Given the description of an element on the screen output the (x, y) to click on. 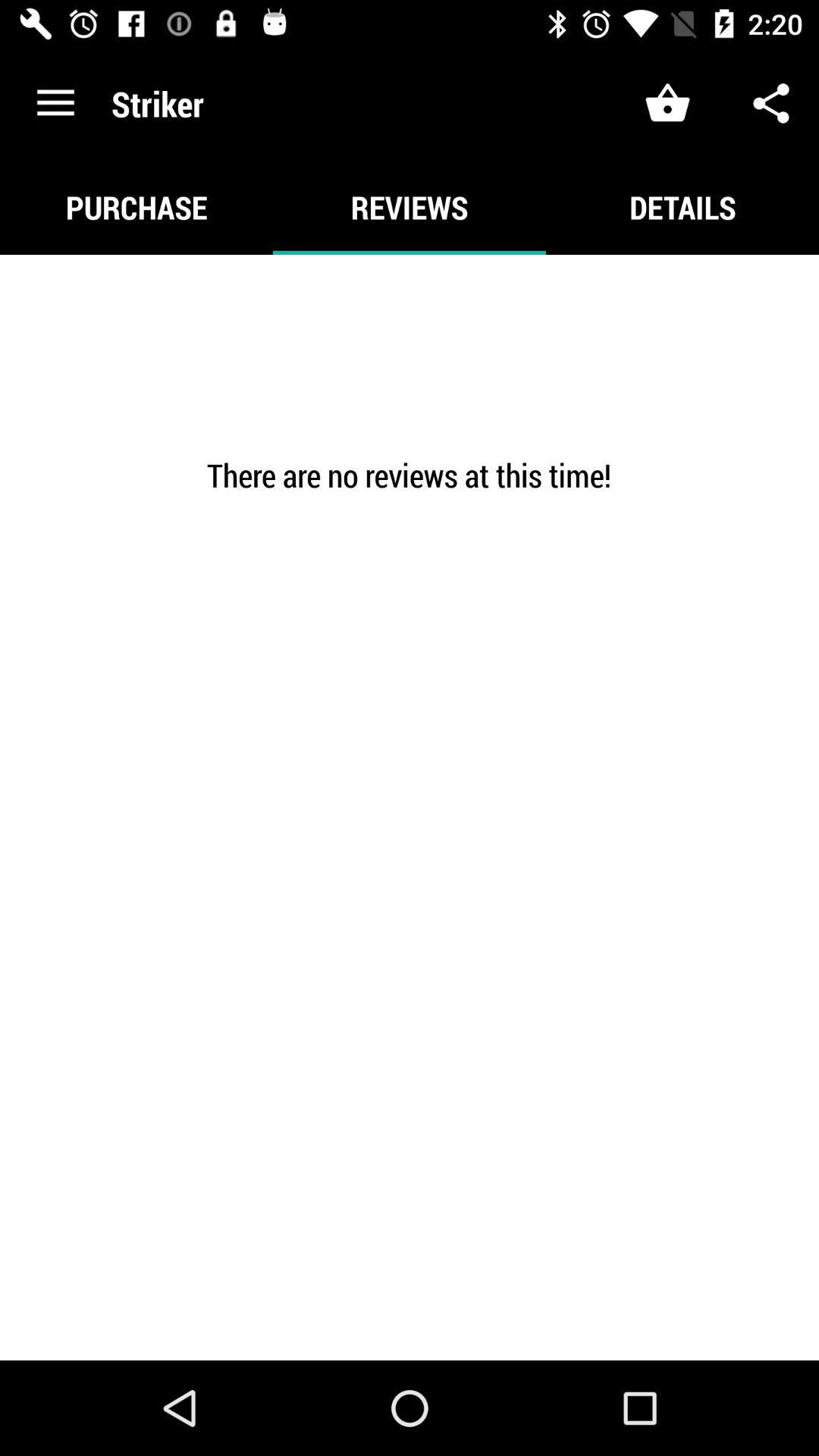
select the icon above the purchase (55, 103)
